Given the description of an element on the screen output the (x, y) to click on. 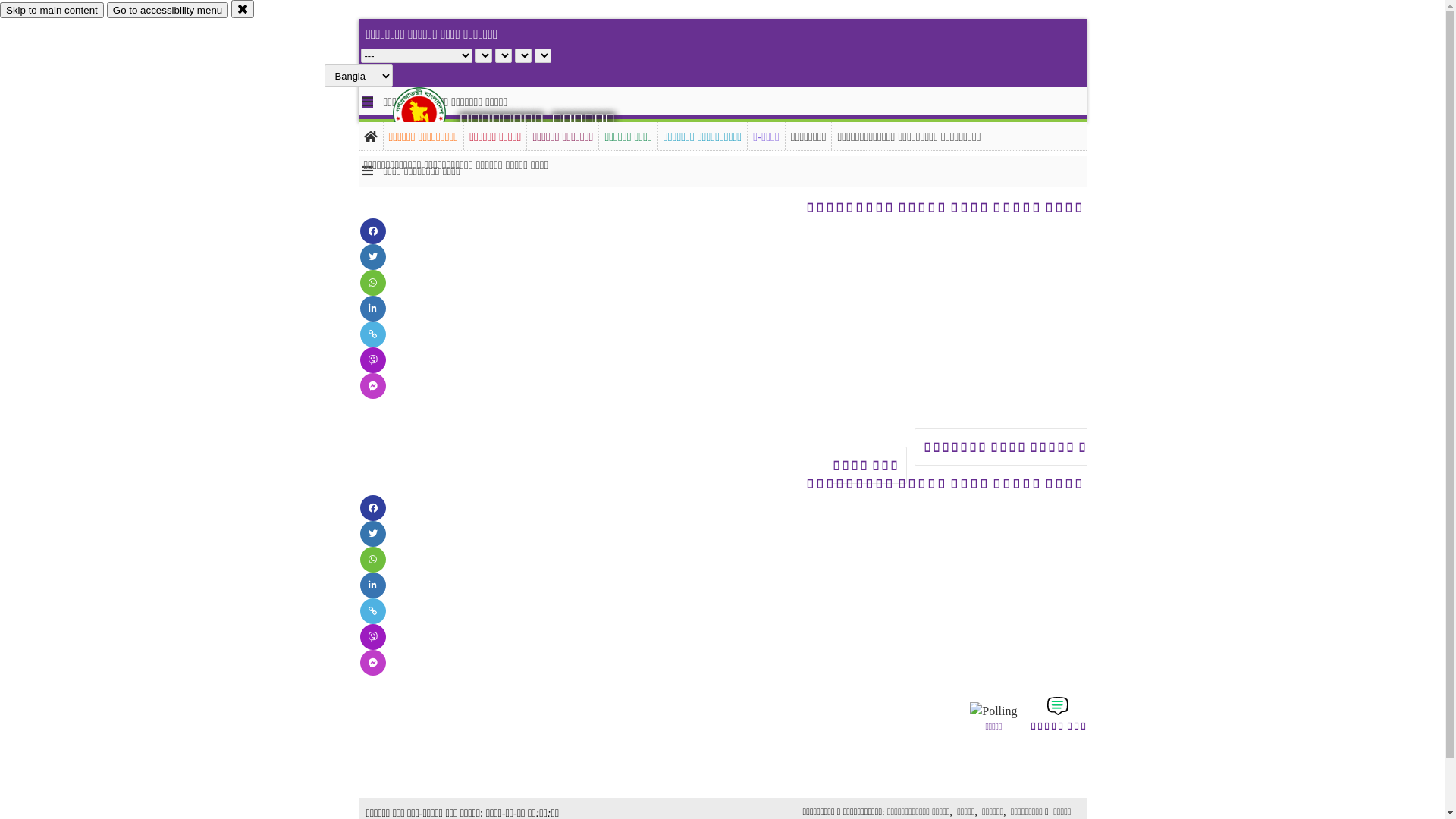
Skip to main content Element type: text (51, 10)
close Element type: hover (242, 9)
Go to accessibility menu Element type: text (167, 10)

                
             Element type: hover (431, 112)
